Given the description of an element on the screen output the (x, y) to click on. 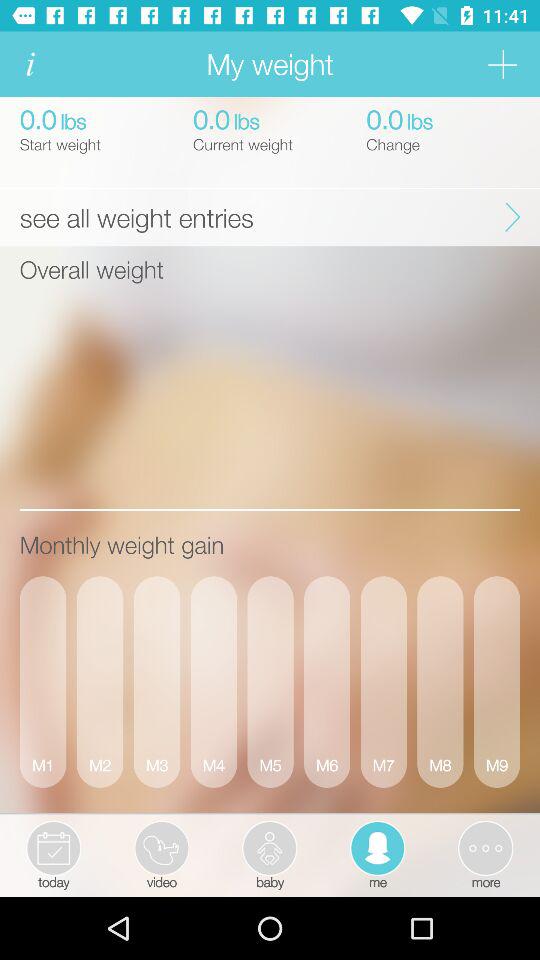
add item (502, 63)
